Given the description of an element on the screen output the (x, y) to click on. 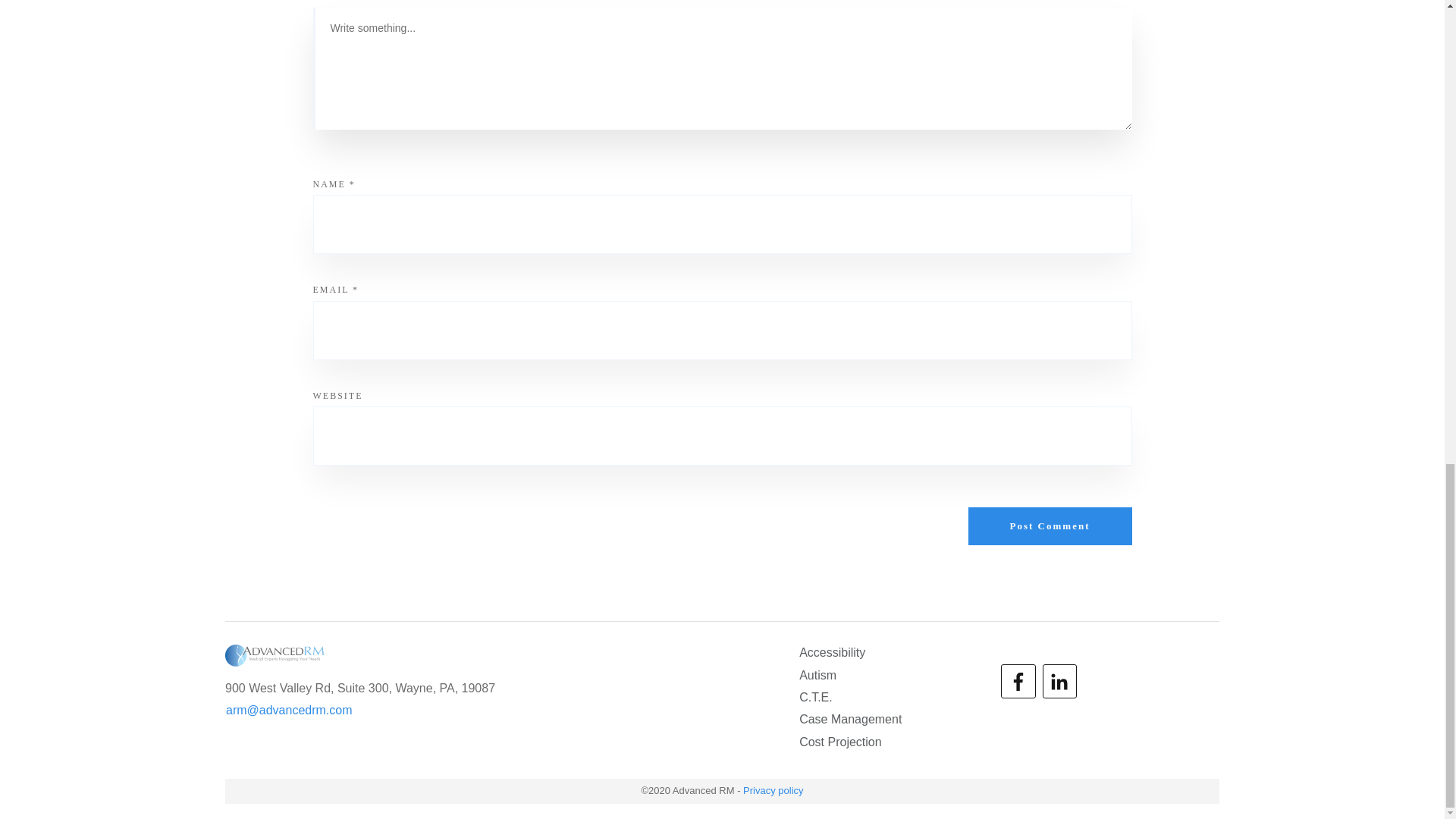
Accessibility (831, 652)
Post Comment (1049, 525)
Autism (817, 675)
Case Management (850, 719)
C.T.E. (815, 697)
